Given the description of an element on the screen output the (x, y) to click on. 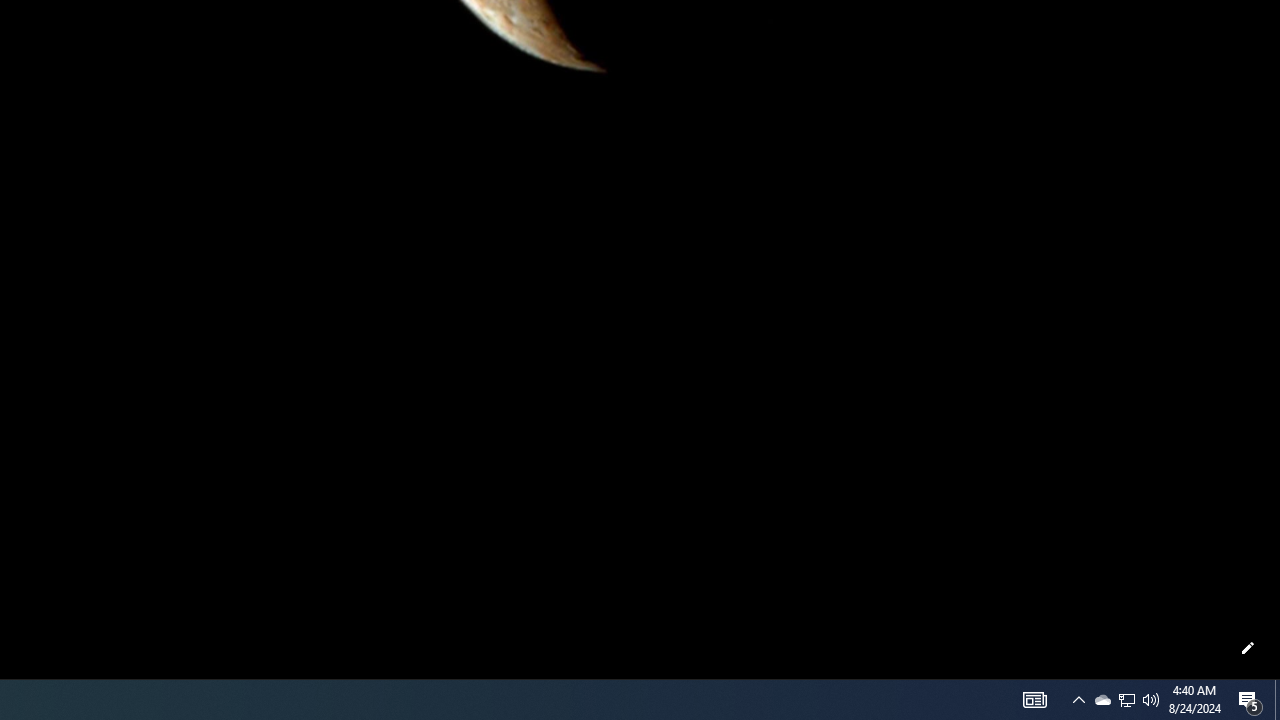
Customize this page (1247, 647)
